Given the description of an element on the screen output the (x, y) to click on. 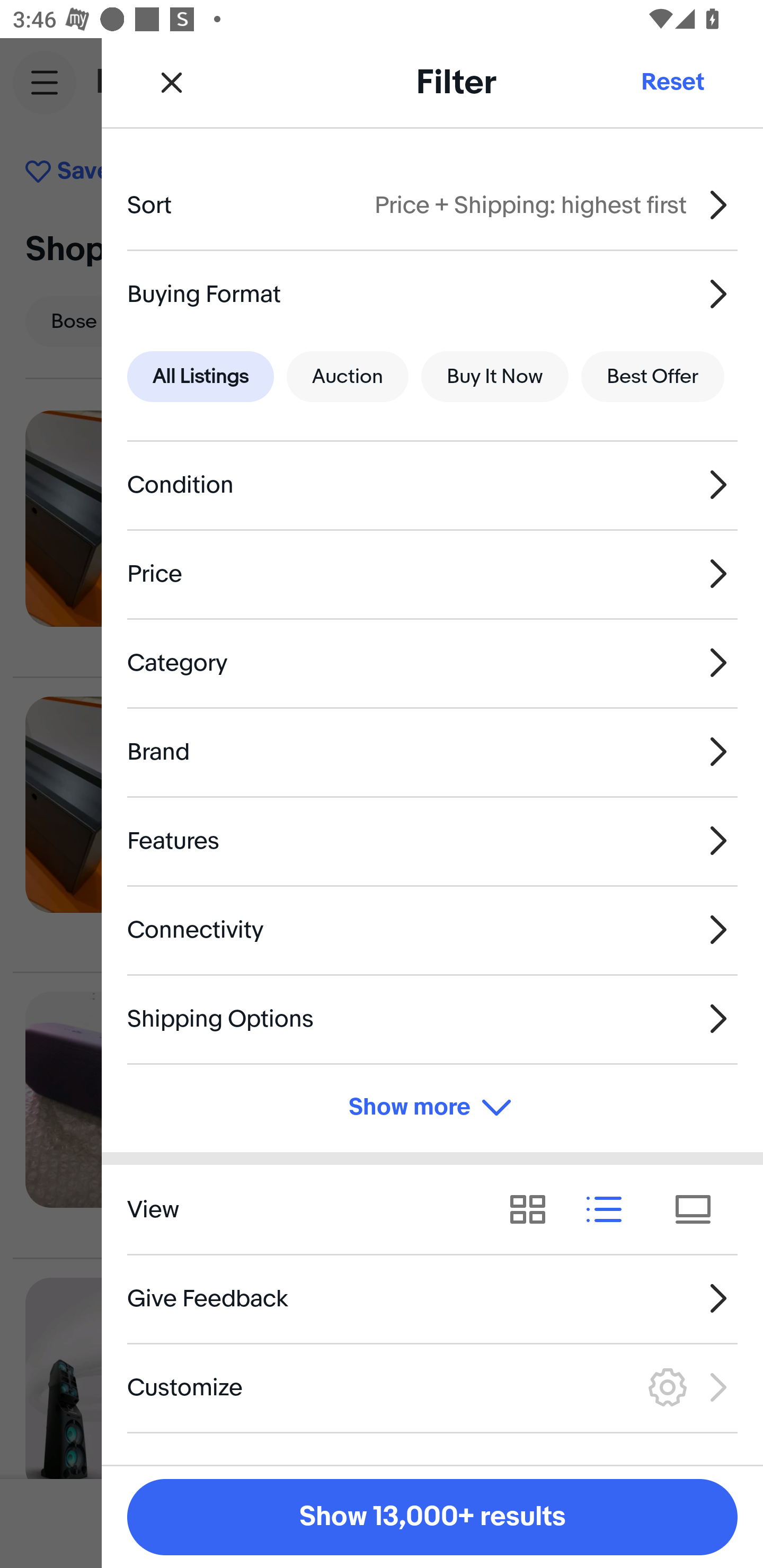
Close Filter (171, 81)
Reset (672, 81)
Buying Format (432, 293)
All Listings (200, 376)
Auction (347, 376)
Buy It Now (494, 376)
Best Offer (652, 376)
Condition (432, 484)
Price (432, 573)
Category (432, 662)
Brand (432, 751)
Features (432, 840)
Connectivity (432, 929)
Shipping Options (432, 1018)
Show more (432, 1107)
View results as grid (533, 1209)
View results as list (610, 1209)
View results as tiles (699, 1209)
Customize (432, 1386)
Show 13,000+ results (432, 1516)
